Given the description of an element on the screen output the (x, y) to click on. 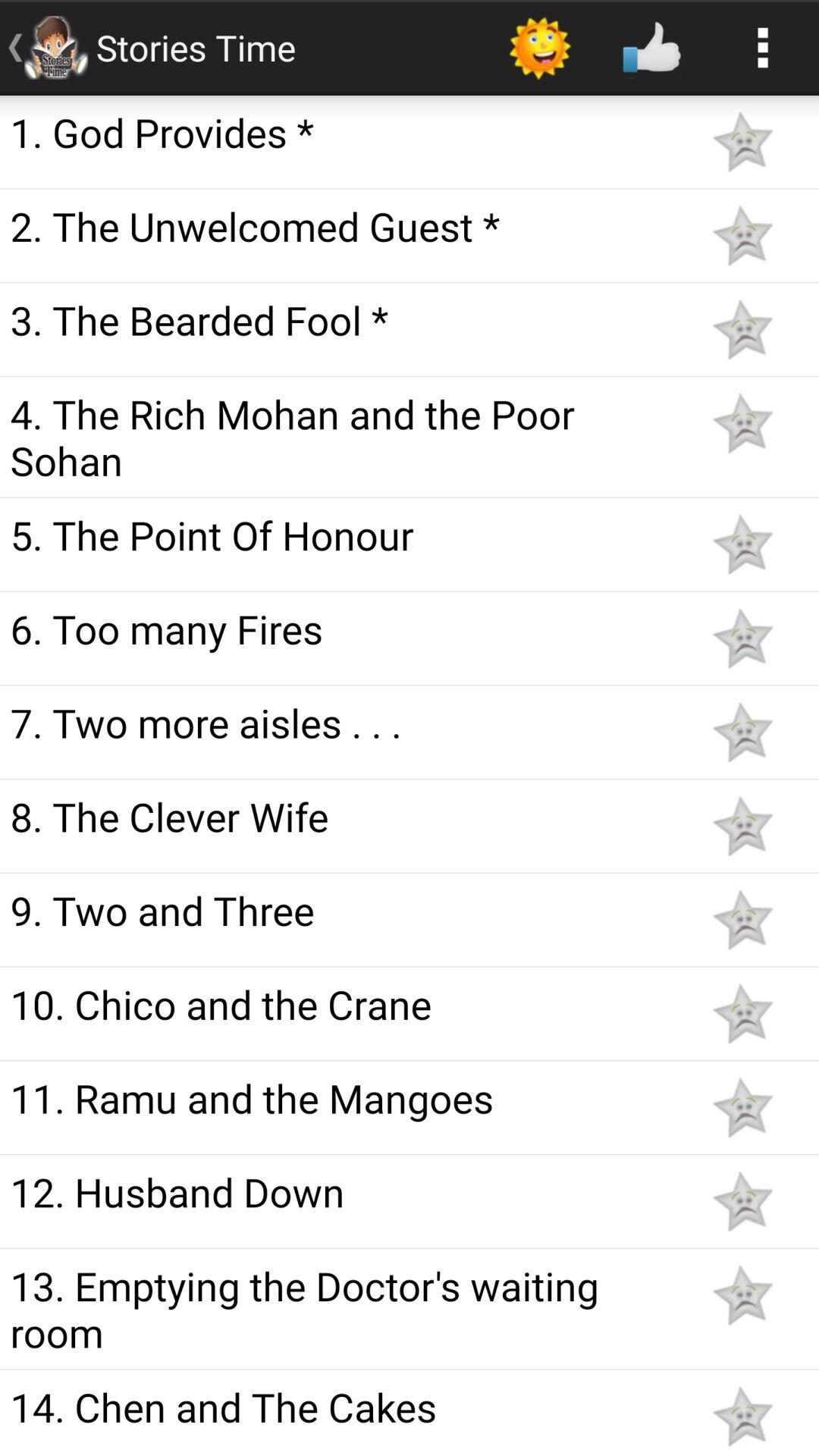
toggle favorite (742, 1107)
